Given the description of an element on the screen output the (x, y) to click on. 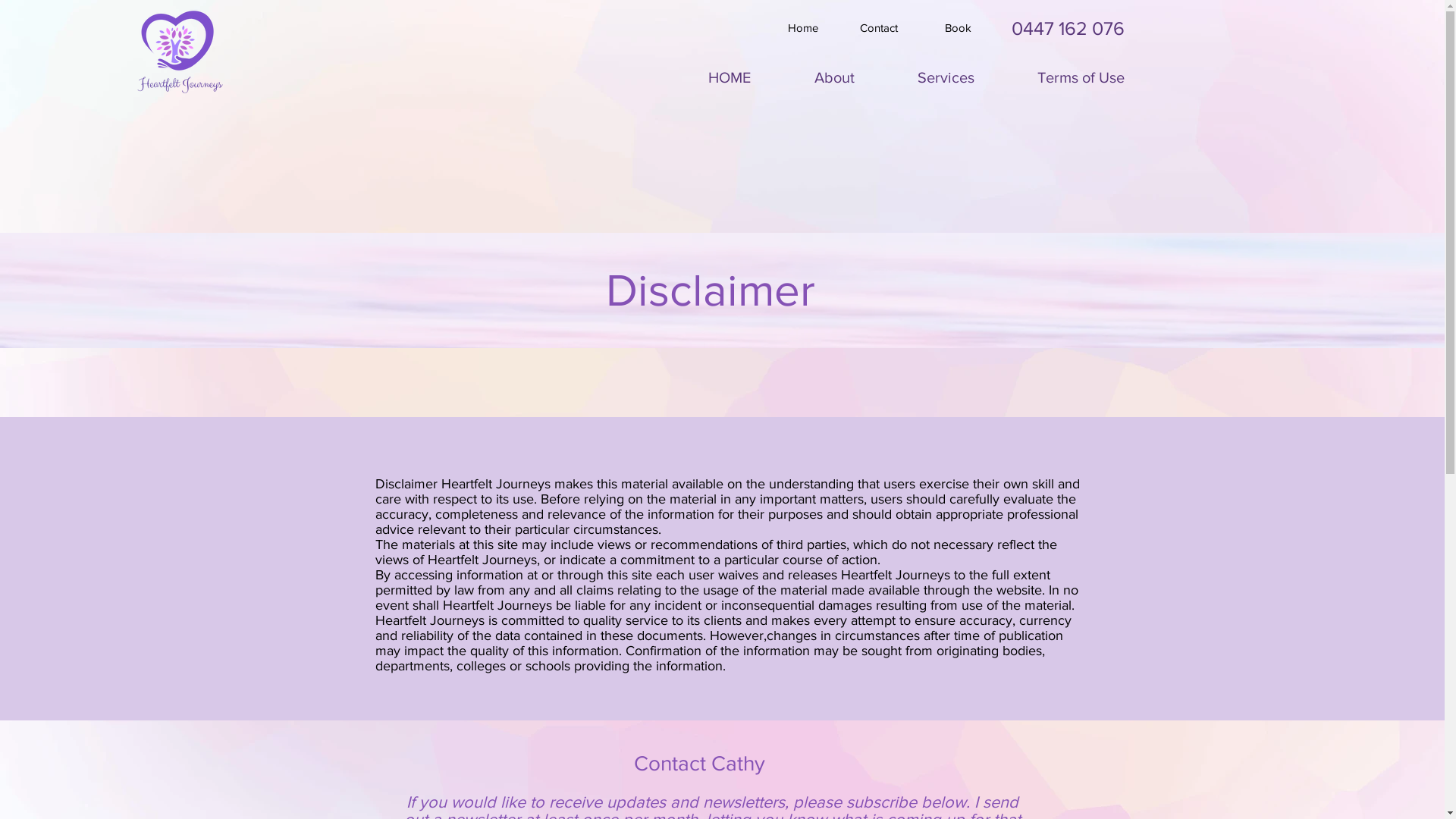
About Element type: text (833, 70)
Book Element type: text (957, 27)
Home Element type: text (802, 27)
HOME Element type: text (729, 70)
Contact Element type: text (878, 27)
